Given the description of an element on the screen output the (x, y) to click on. 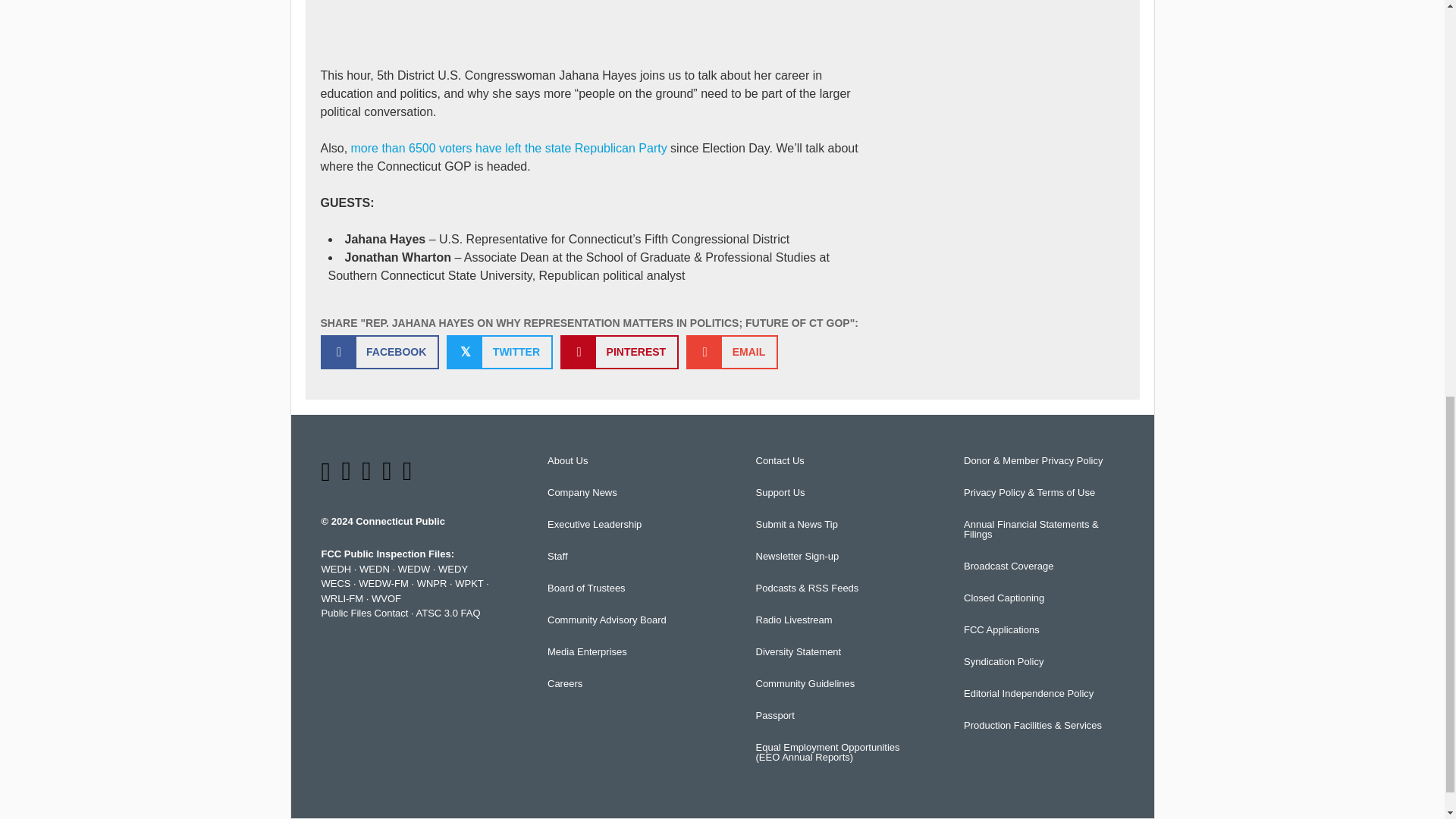
PINTEREST (619, 351)
more than 6500 voters have left the state Republican Party (508, 147)
FACEBOOK (379, 351)
